Given the description of an element on the screen output the (x, y) to click on. 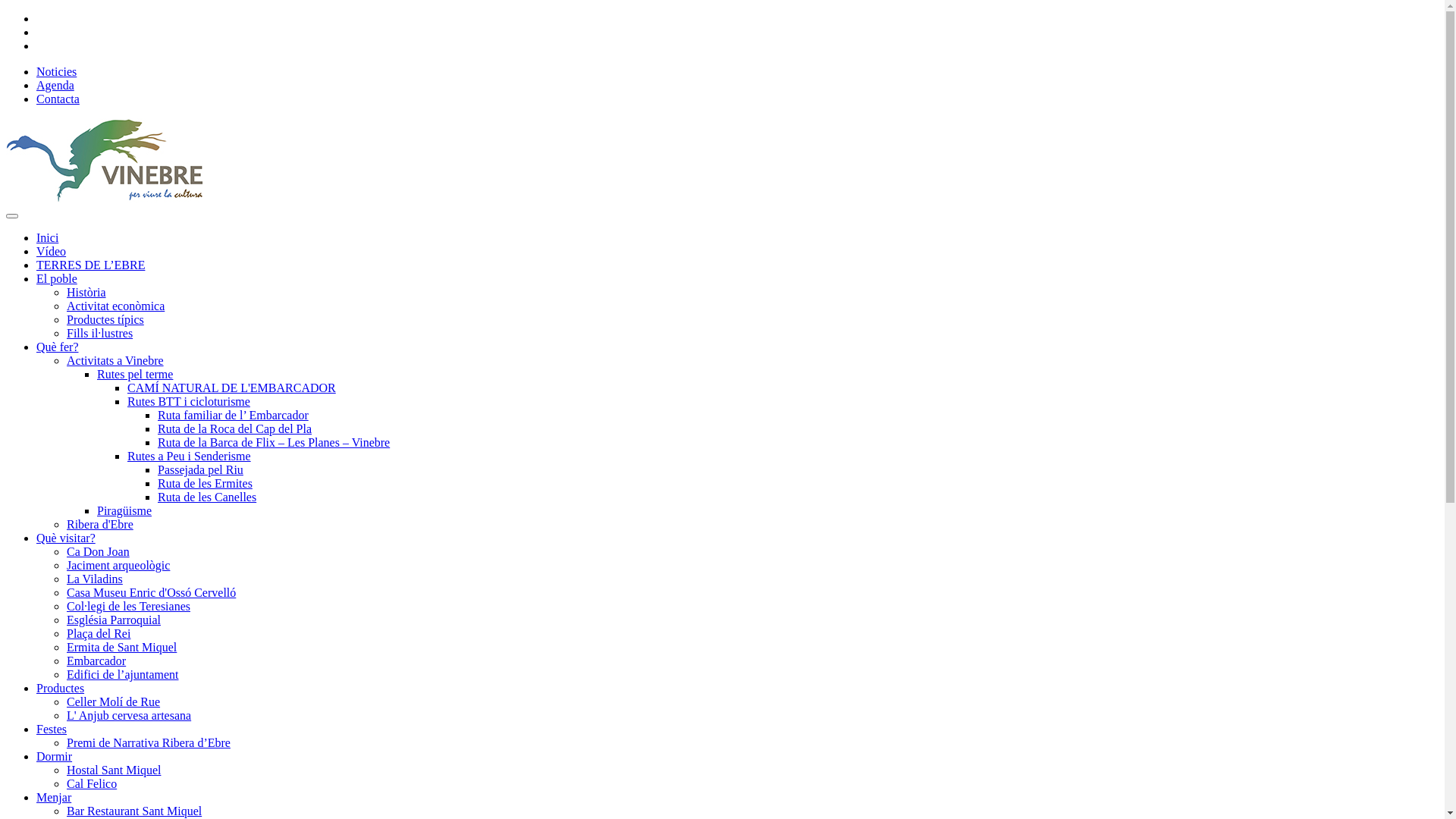
Rutes pel terme Element type: text (134, 373)
Activitats a Vinebre Element type: text (114, 360)
Passejada pel Riu Element type: text (200, 469)
Dormir Element type: text (54, 755)
Productes Element type: text (60, 687)
Ruta de les Ermites Element type: text (204, 482)
Noticies Element type: text (56, 71)
Hostal Sant Miquel Element type: text (113, 769)
Rutes a Peu i Senderisme Element type: text (189, 455)
Cal Felico Element type: text (91, 783)
Vinebre Element type: hover (104, 197)
La Viladins Element type: text (94, 578)
Embarcador Element type: text (95, 660)
Ermita de Sant Miquel Element type: text (121, 646)
L' Anjub cervesa artesana Element type: text (128, 715)
Inici Element type: text (47, 237)
Contacta Element type: text (57, 98)
Ribera d'Ebre Element type: text (99, 523)
El poble Element type: text (56, 278)
Ca Don Joan Element type: text (97, 551)
Ruta de les Canelles Element type: text (206, 496)
Ruta de la Roca del Cap del Pla Element type: text (234, 428)
Agenda Element type: text (55, 84)
Festes Element type: text (51, 728)
Bar Restaurant Sant Miquel Element type: text (133, 810)
Rutes BTT i cicloturisme Element type: text (188, 401)
Menjar Element type: text (53, 796)
